Given the description of an element on the screen output the (x, y) to click on. 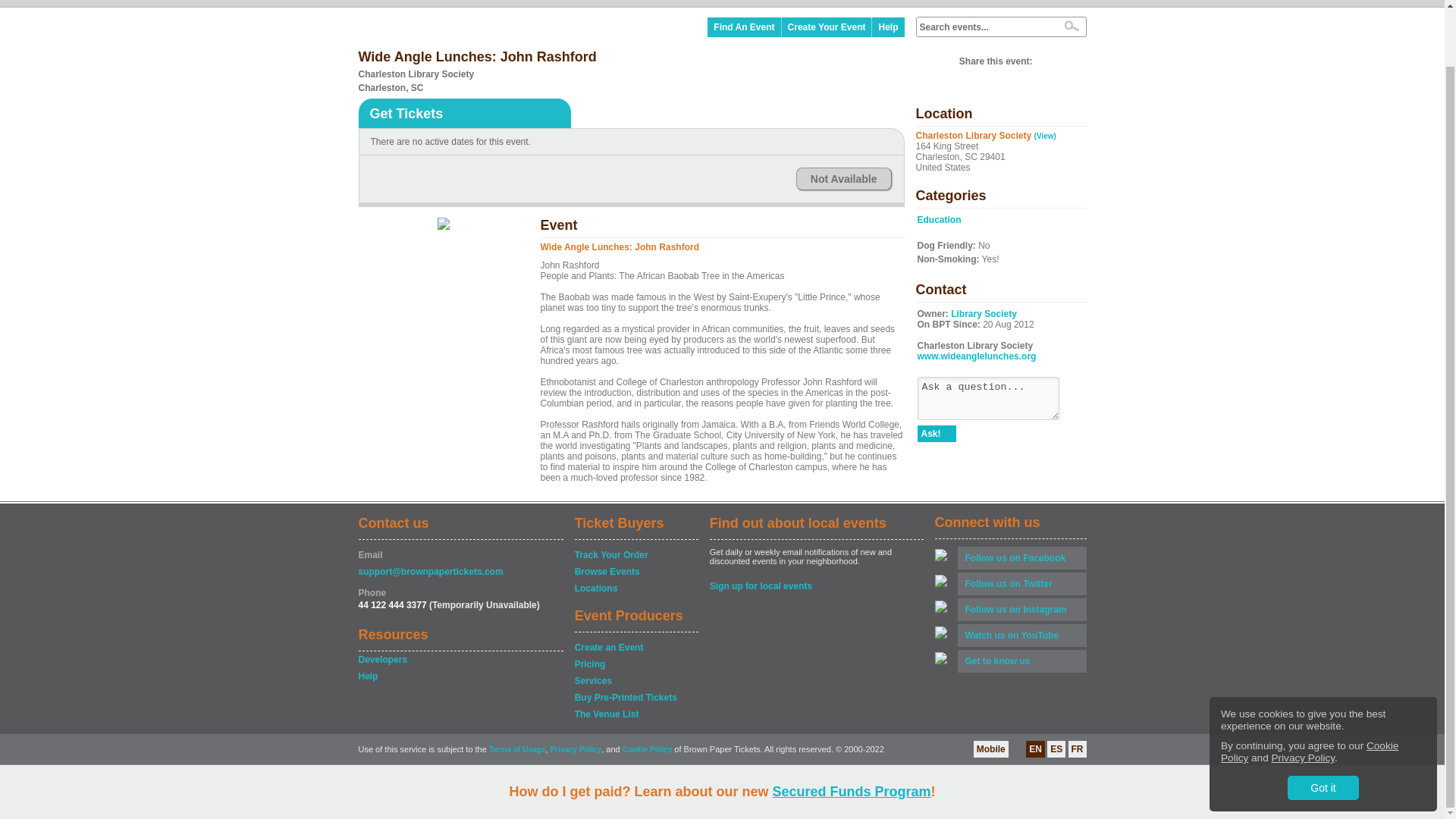
Ask! (936, 433)
The Venue List (636, 713)
Got it (1322, 726)
Got it (1322, 726)
www.wideanglelunches.org (976, 356)
Track Your Order (636, 554)
Library Society (983, 313)
Cookie Policy (1309, 689)
Sign up for local events (816, 585)
Pricing (636, 663)
Privacy Policy (1303, 696)
Buy Pre-Printed Tickets (636, 697)
Search Events (1070, 25)
Help (460, 676)
Developers (460, 659)
